Given the description of an element on the screen output the (x, y) to click on. 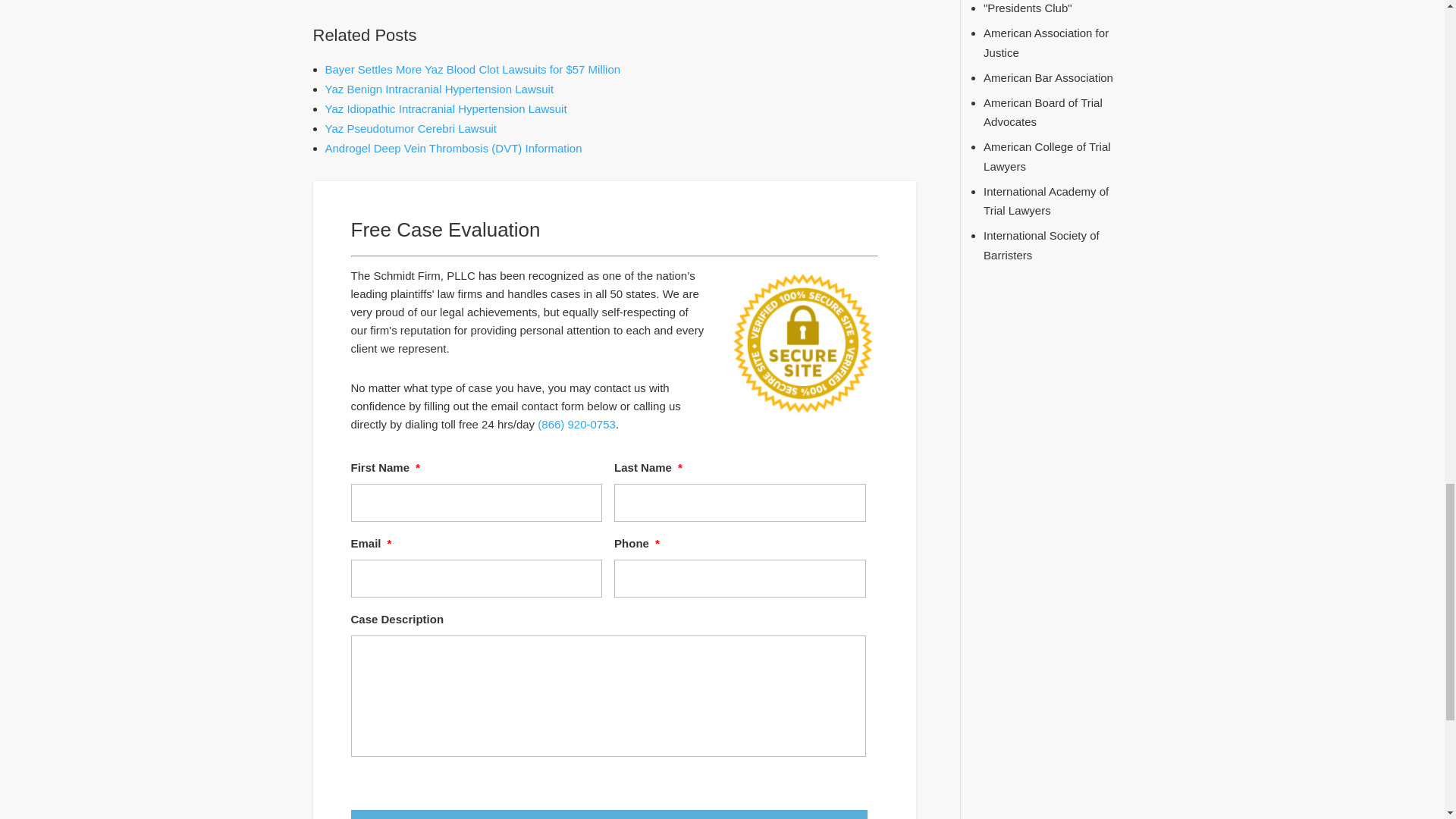
Submit (608, 814)
